Given the description of an element on the screen output the (x, y) to click on. 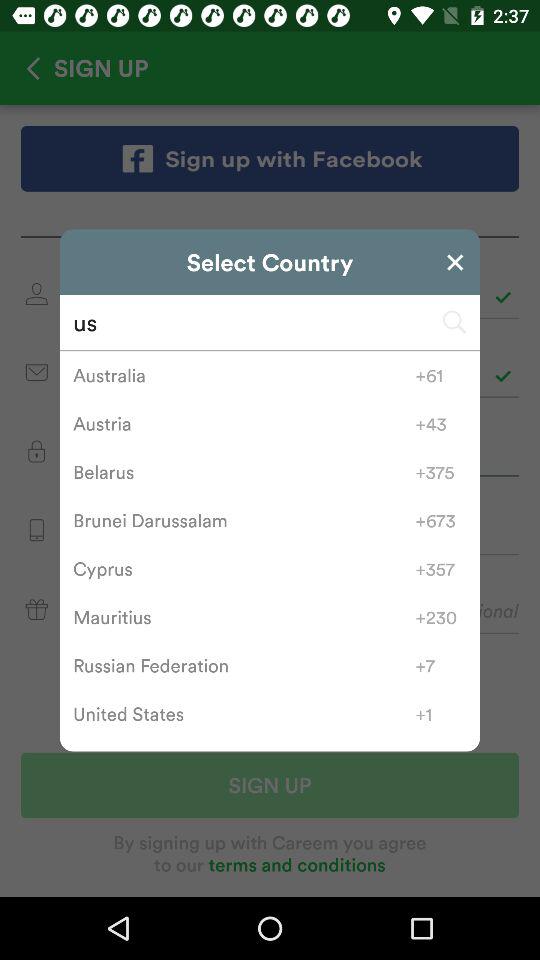
turn on the item to the right of australia item (440, 375)
